Given the description of an element on the screen output the (x, y) to click on. 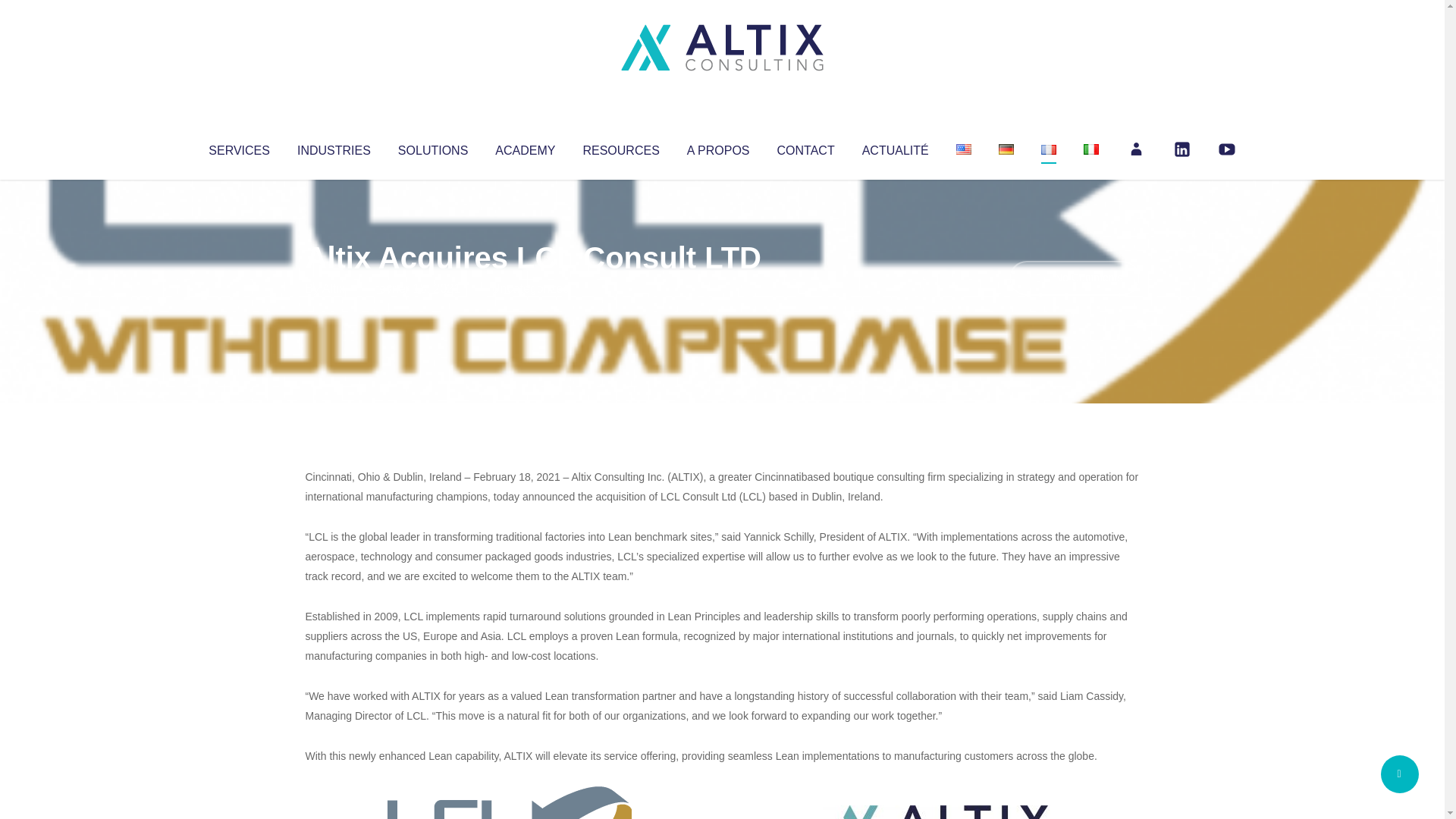
Altix (333, 287)
ACADEMY (524, 146)
No Comments (1073, 278)
Uncategorized (530, 287)
SOLUTIONS (432, 146)
RESOURCES (620, 146)
Articles par Altix (333, 287)
A PROPOS (718, 146)
INDUSTRIES (334, 146)
SERVICES (238, 146)
